Given the description of an element on the screen output the (x, y) to click on. 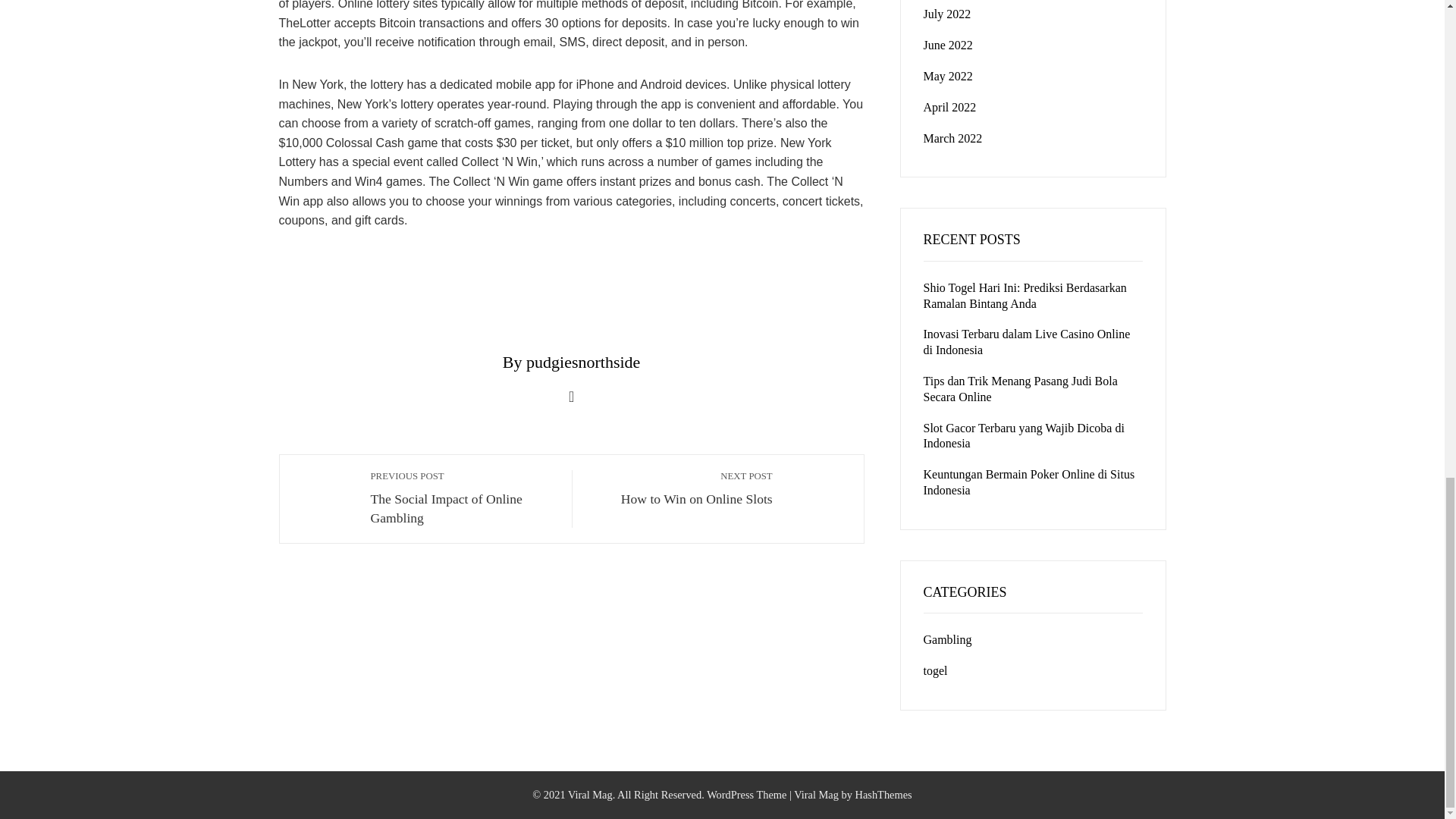
Download Viral News (462, 497)
July 2022 (815, 794)
June 2022 (947, 13)
